Given the description of an element on the screen output the (x, y) to click on. 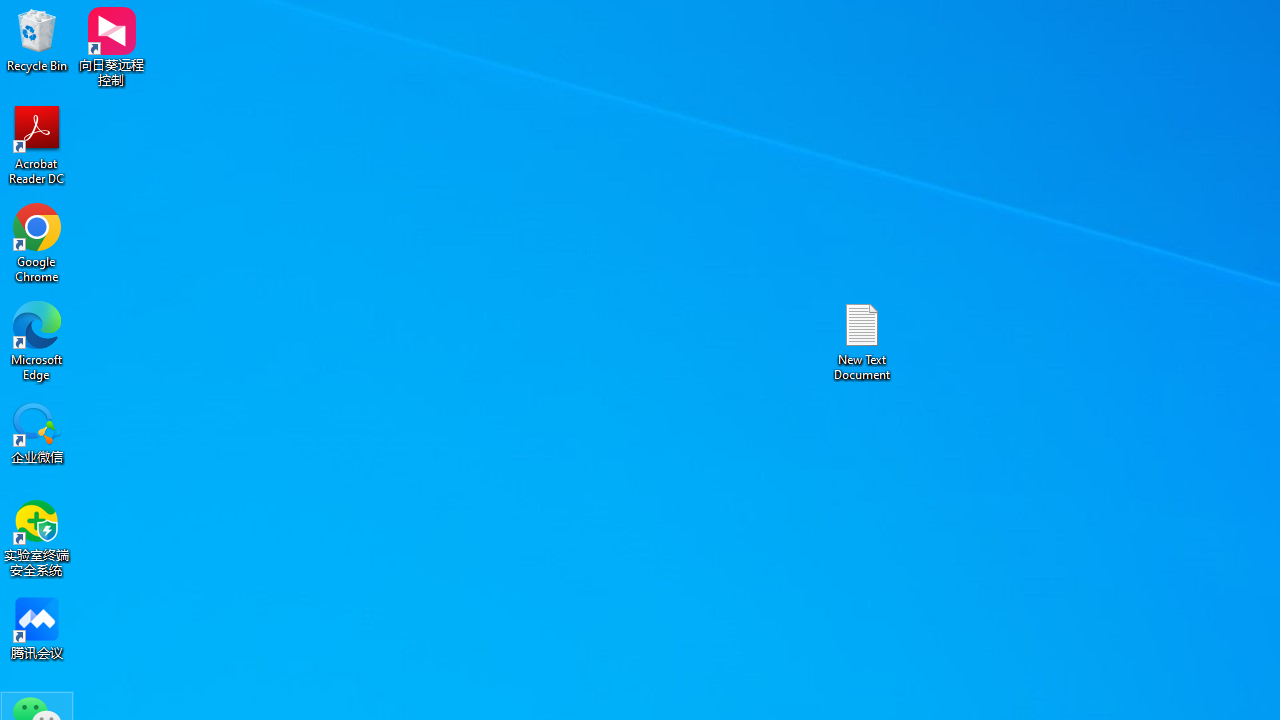
Google Chrome (37, 242)
Recycle Bin (37, 39)
Microsoft Edge (37, 340)
Acrobat Reader DC (37, 144)
New Text Document (861, 340)
